Given the description of an element on the screen output the (x, y) to click on. 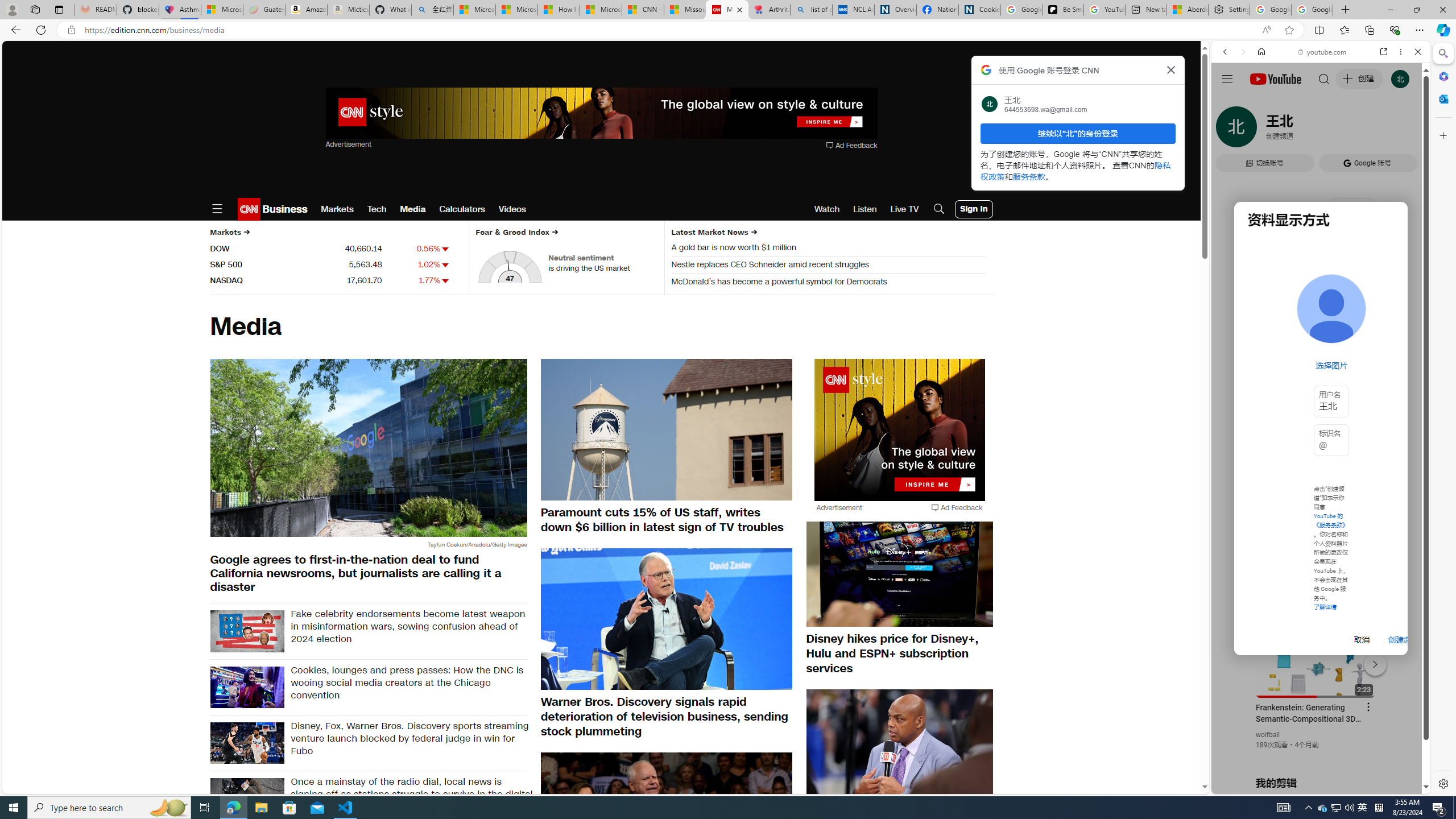
Search Filter, VIDEOS (1300, 129)
Search the web (1326, 78)
Nestle replaces CEO Schneider amid recent struggles (828, 266)
